Given the description of an element on the screen output the (x, y) to click on. 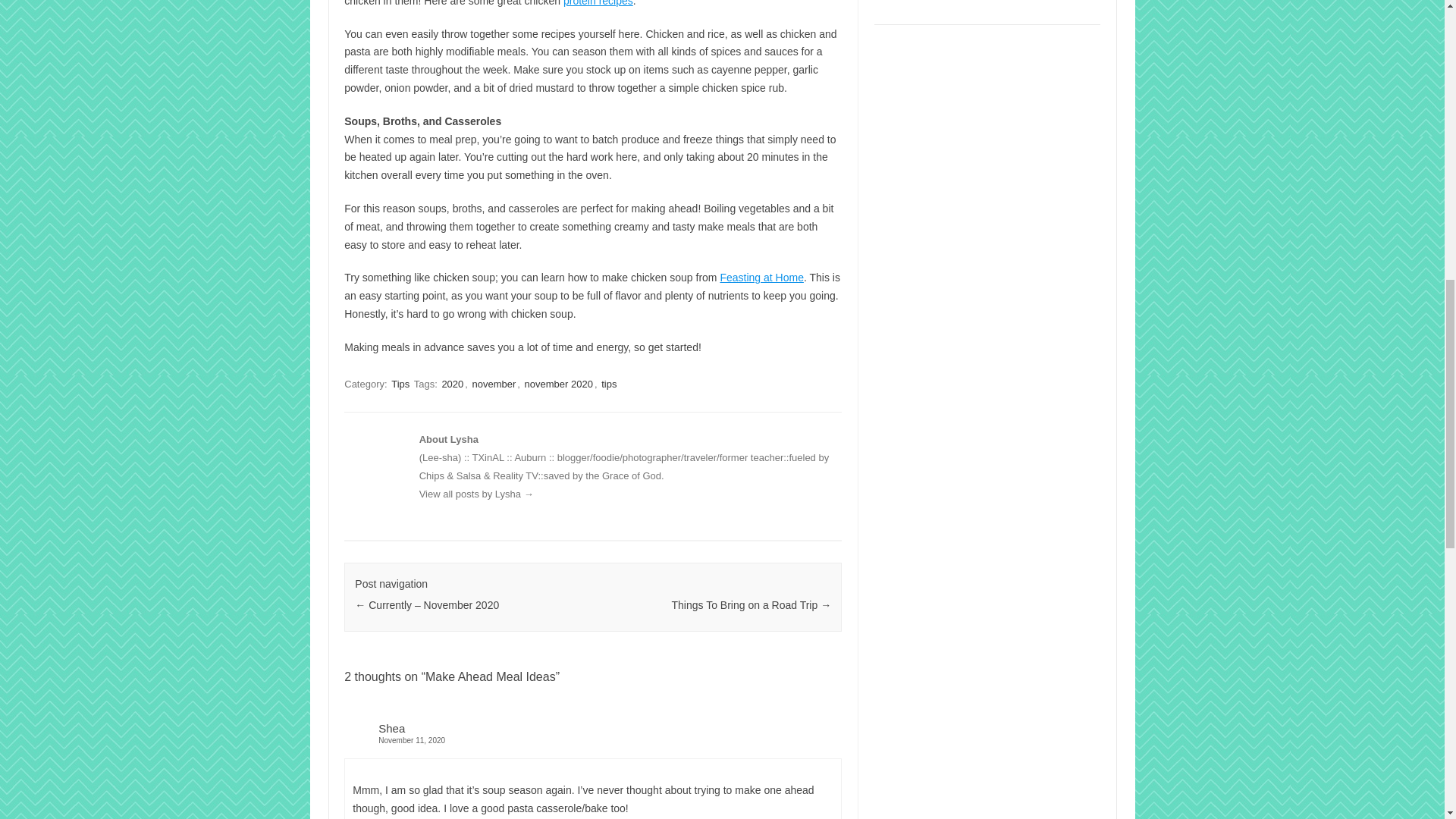
protein recipes (598, 3)
Shea (391, 727)
tips (608, 383)
Feasting at Home (761, 277)
2020 (451, 383)
november (494, 383)
November 11, 2020 (592, 739)
Tips (400, 383)
november 2020 (558, 383)
